Given the description of an element on the screen output the (x, y) to click on. 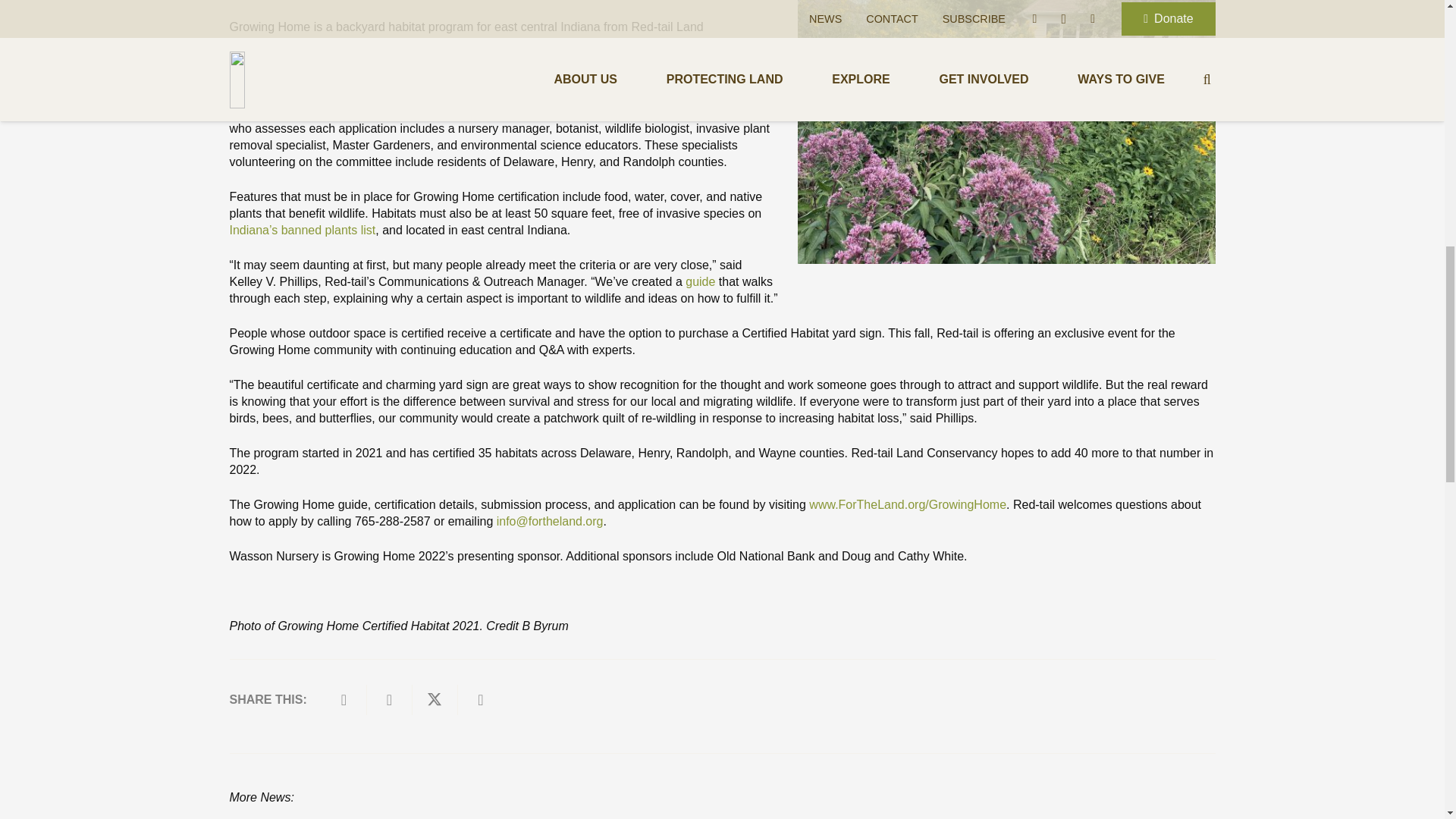
guide (699, 281)
Share this (389, 699)
Share this (480, 699)
Tweet this (435, 699)
Email this (343, 699)
